Given the description of an element on the screen output the (x, y) to click on. 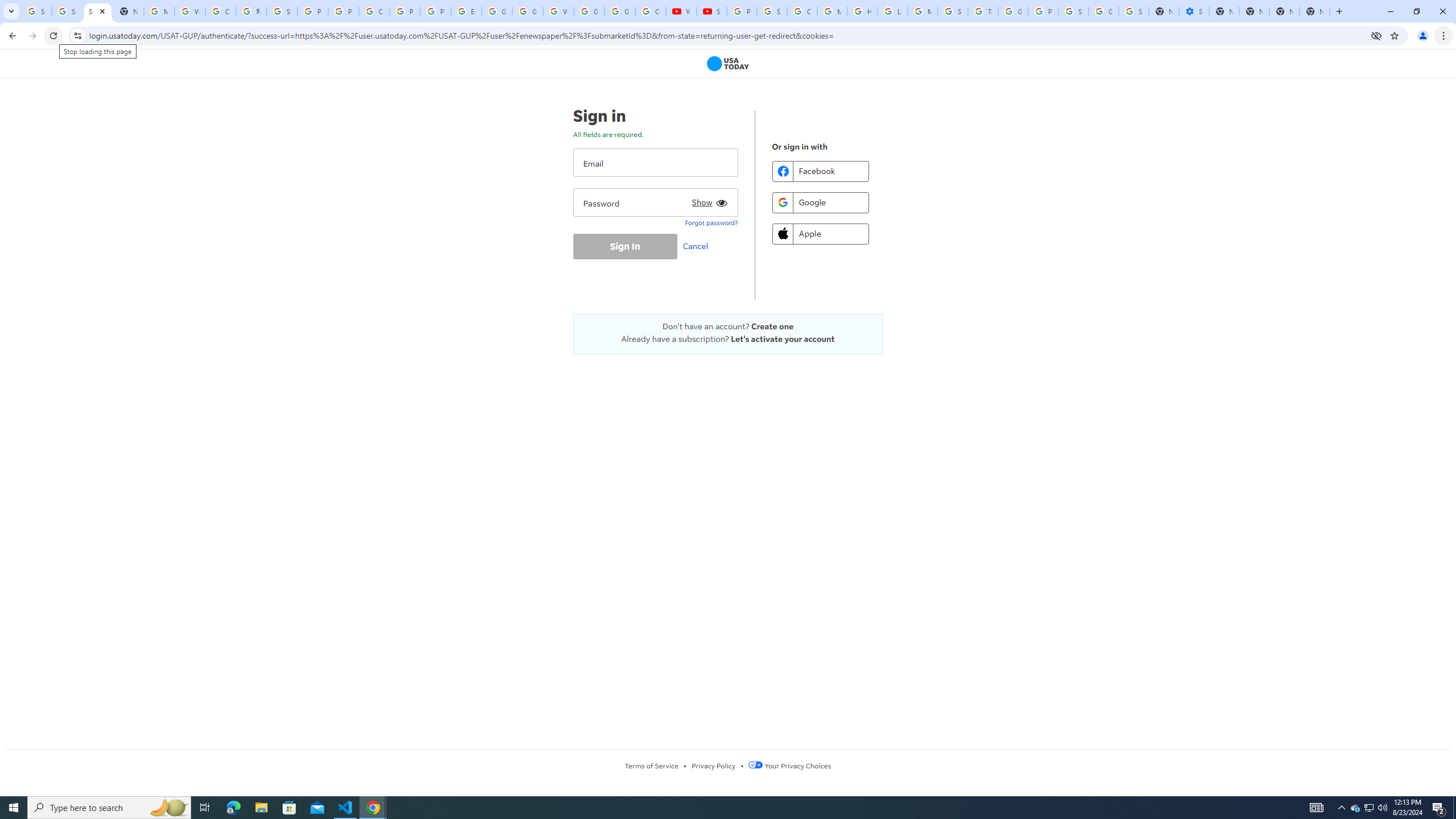
Edit and view right-to-left text - Google Docs Editors Help (465, 11)
Enter Password (655, 202)
Google Ads - Sign in (1012, 11)
Sign in - Google Accounts (1072, 11)
Sign In (624, 246)
USA TODAY (727, 64)
